Given the description of an element on the screen output the (x, y) to click on. 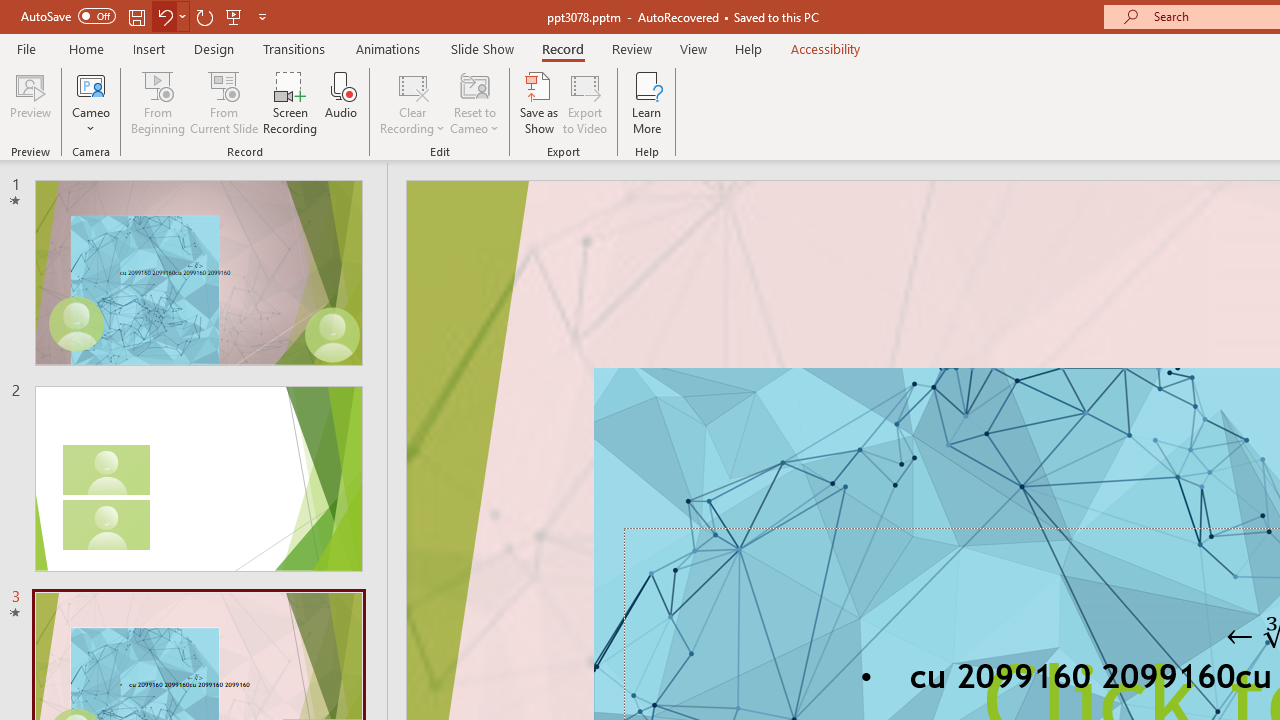
Export to Video (585, 102)
